Given the description of an element on the screen output the (x, y) to click on. 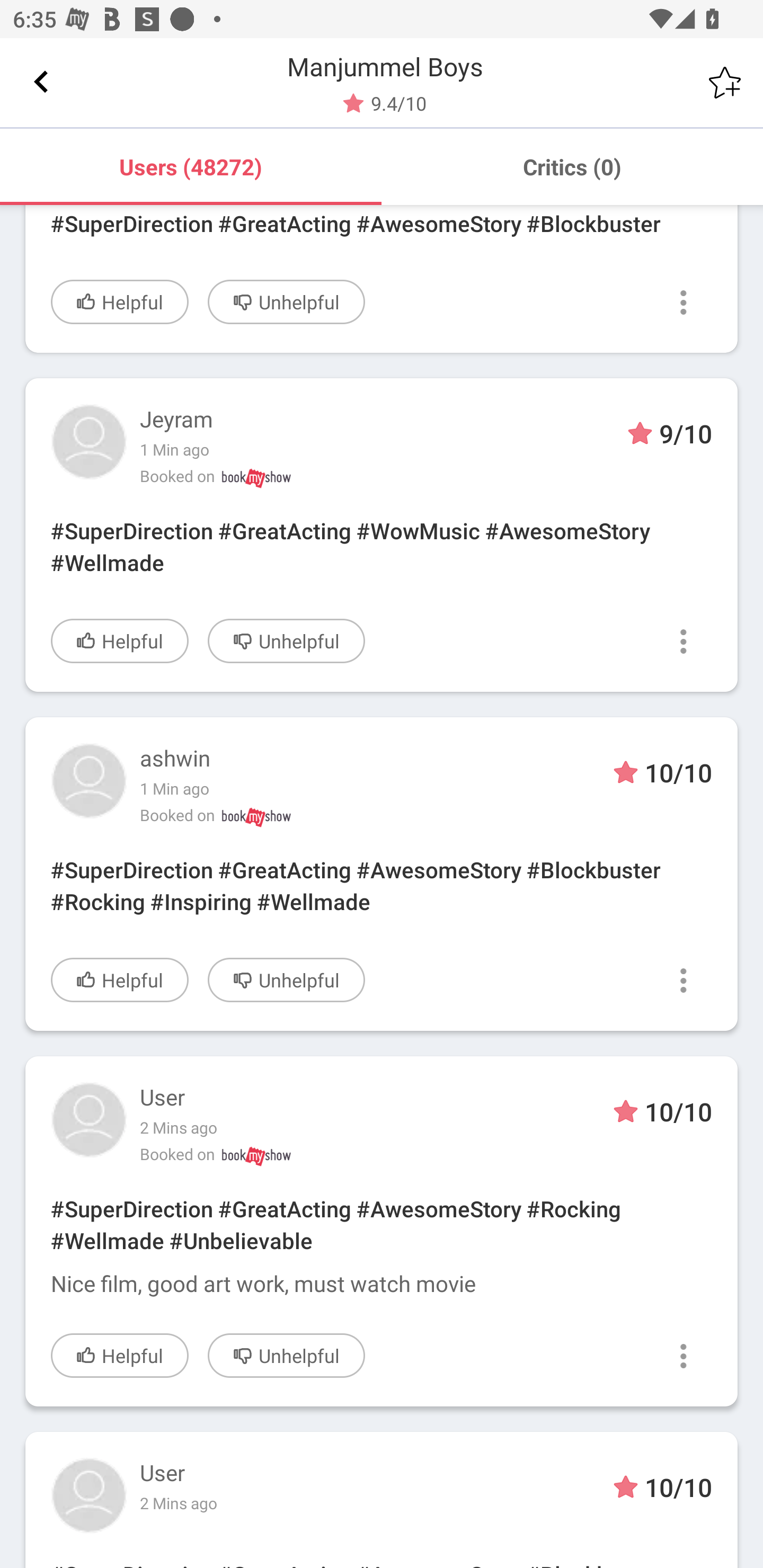
Back (41, 82)
Critics (0) (572, 166)
Helpful (119, 301)
Unhelpful (285, 301)
Helpful (119, 641)
Unhelpful (285, 641)
Helpful (119, 979)
Unhelpful (285, 979)
Helpful (119, 1355)
Unhelpful (285, 1355)
